Given the description of an element on the screen output the (x, y) to click on. 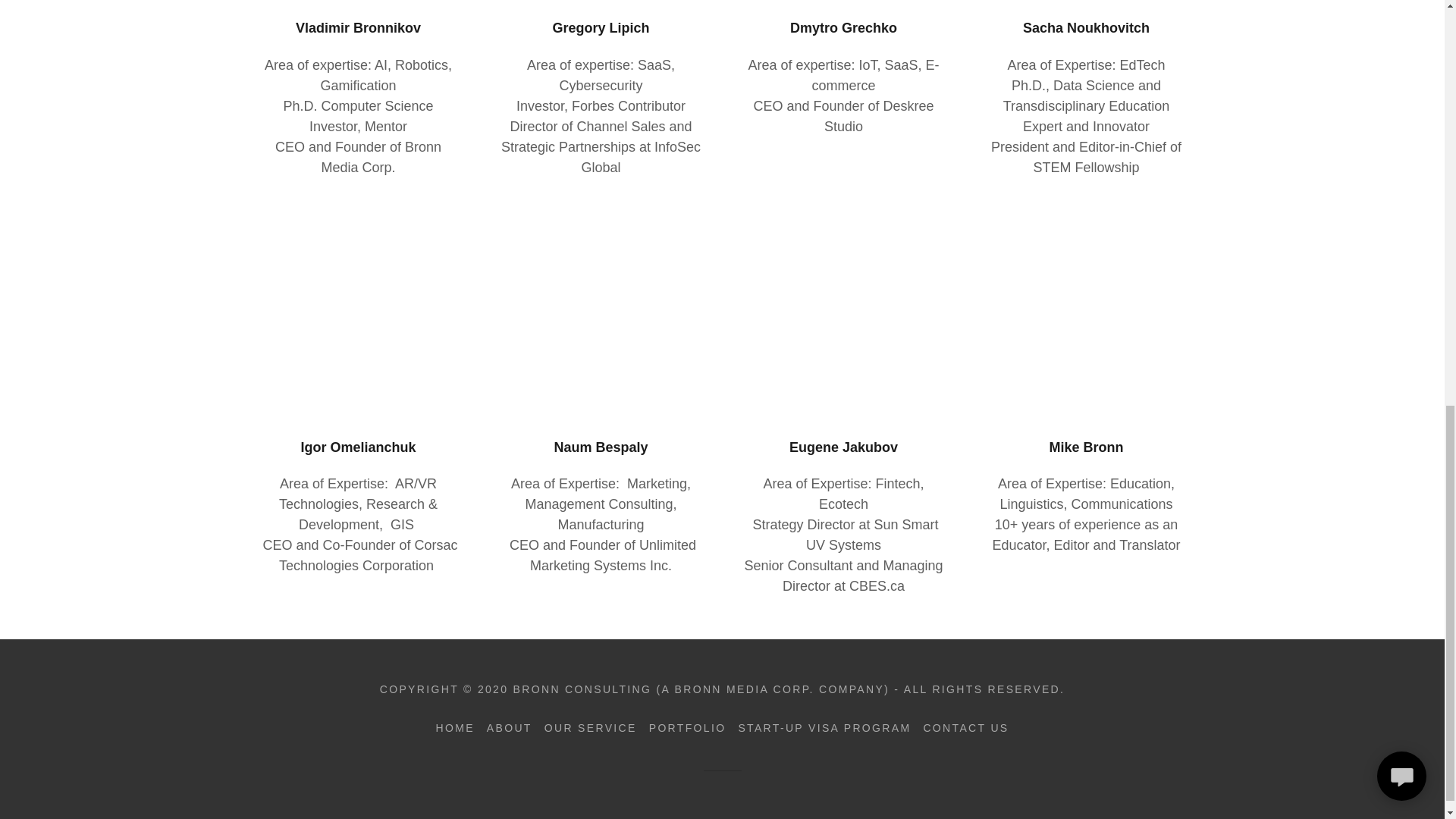
ABOUT (509, 727)
START-UP VISA PROGRAM (824, 727)
HOME (454, 727)
CONTACT US (965, 727)
OUR SERVICE (590, 727)
PORTFOLIO (687, 727)
